Given the description of an element on the screen output the (x, y) to click on. 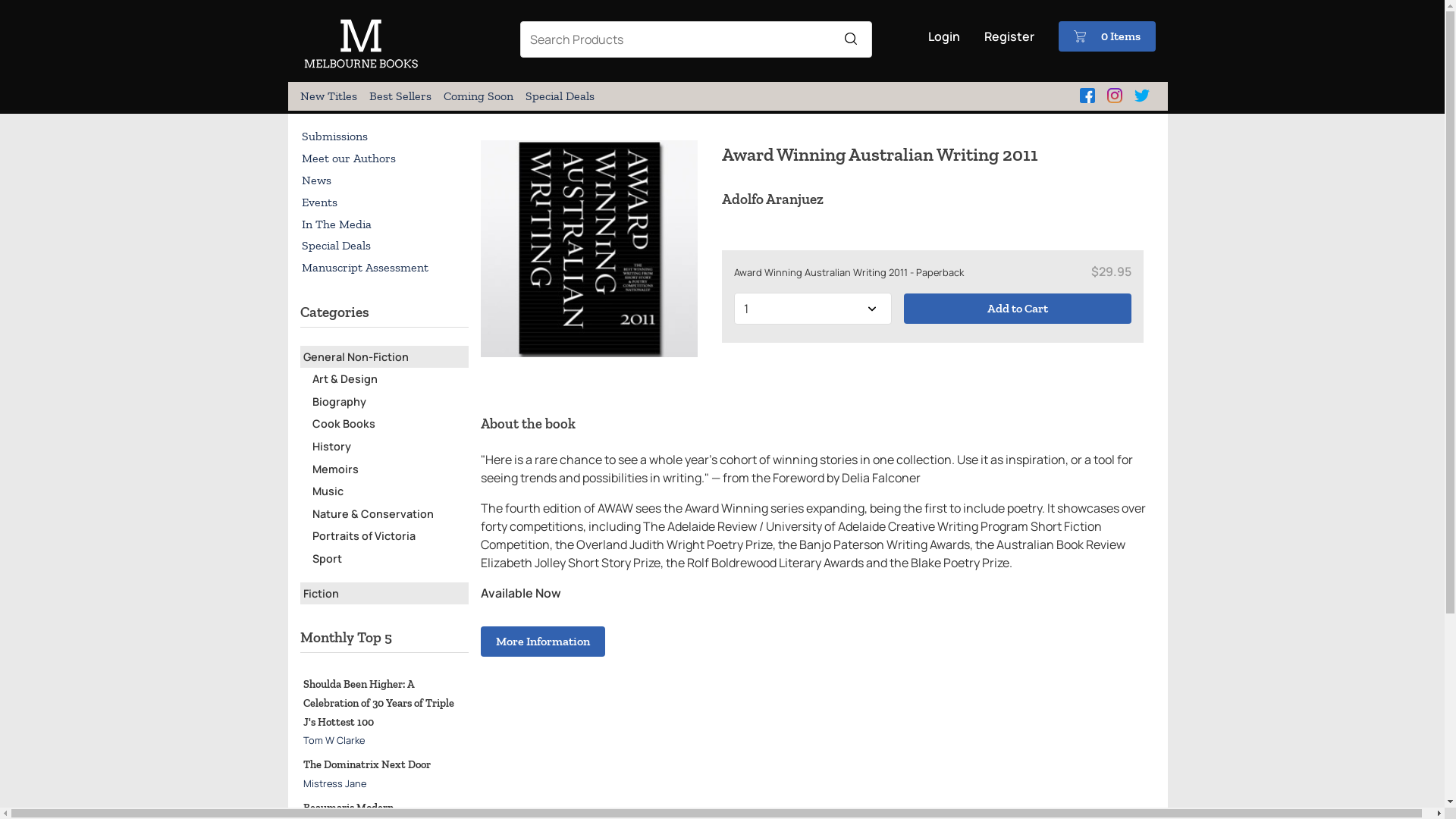
New Titles Element type: text (328, 95)
Events Element type: text (384, 202)
Special Deals Element type: text (559, 95)
Manuscript Assessment Element type: text (384, 268)
Special Deals Element type: text (384, 246)
Best Sellers Element type: text (400, 95)
Art & Design Element type: text (344, 378)
More Information Element type: text (542, 641)
Cook Books Element type: text (343, 423)
Melbourne Books Element type: hover (360, 66)
The Dominatrix Next Door
Mistress Jane Element type: text (366, 772)
0 Items Element type: text (1106, 36)
Fiction Element type: text (320, 593)
Submissions Element type: text (384, 136)
News Element type: text (384, 180)
General Non-Fiction Element type: text (355, 356)
Biography Element type: text (339, 401)
In The Media Element type: text (384, 224)
Portraits of Victoria Element type: text (363, 535)
Nature & Conservation Element type: text (372, 513)
Add to Cart Element type: text (1017, 308)
Music Element type: text (327, 490)
History Element type: text (331, 446)
Sport Element type: text (327, 558)
Meet our Authors Element type: text (384, 158)
Coming Soon Element type: text (478, 95)
Register Element type: text (1009, 36)
Login Element type: text (944, 36)
Memoirs Element type: text (335, 468)
Search Element type: hover (850, 39)
